Given the description of an element on the screen output the (x, y) to click on. 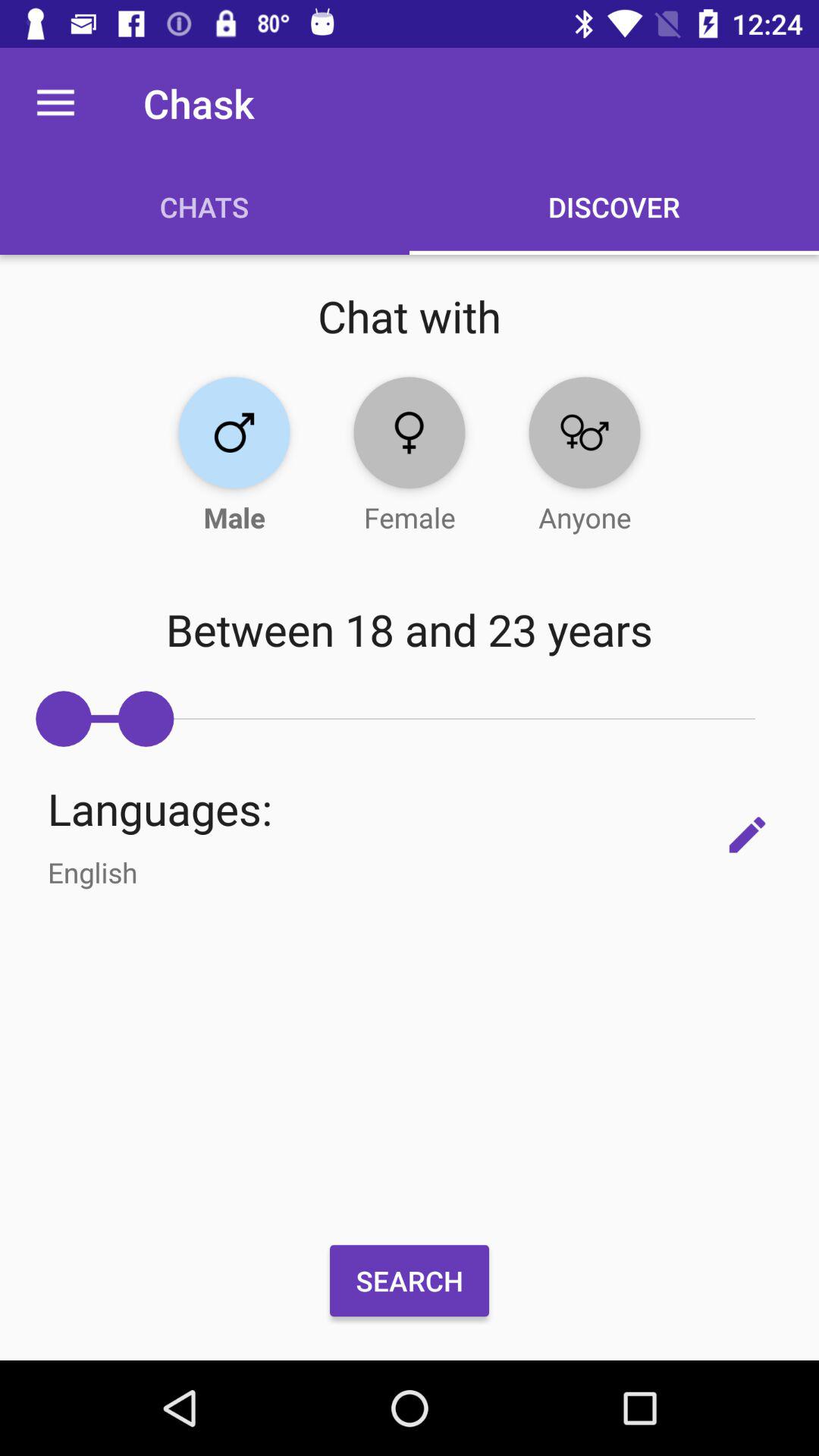
toggle button (234, 432)
